Given the description of an element on the screen output the (x, y) to click on. 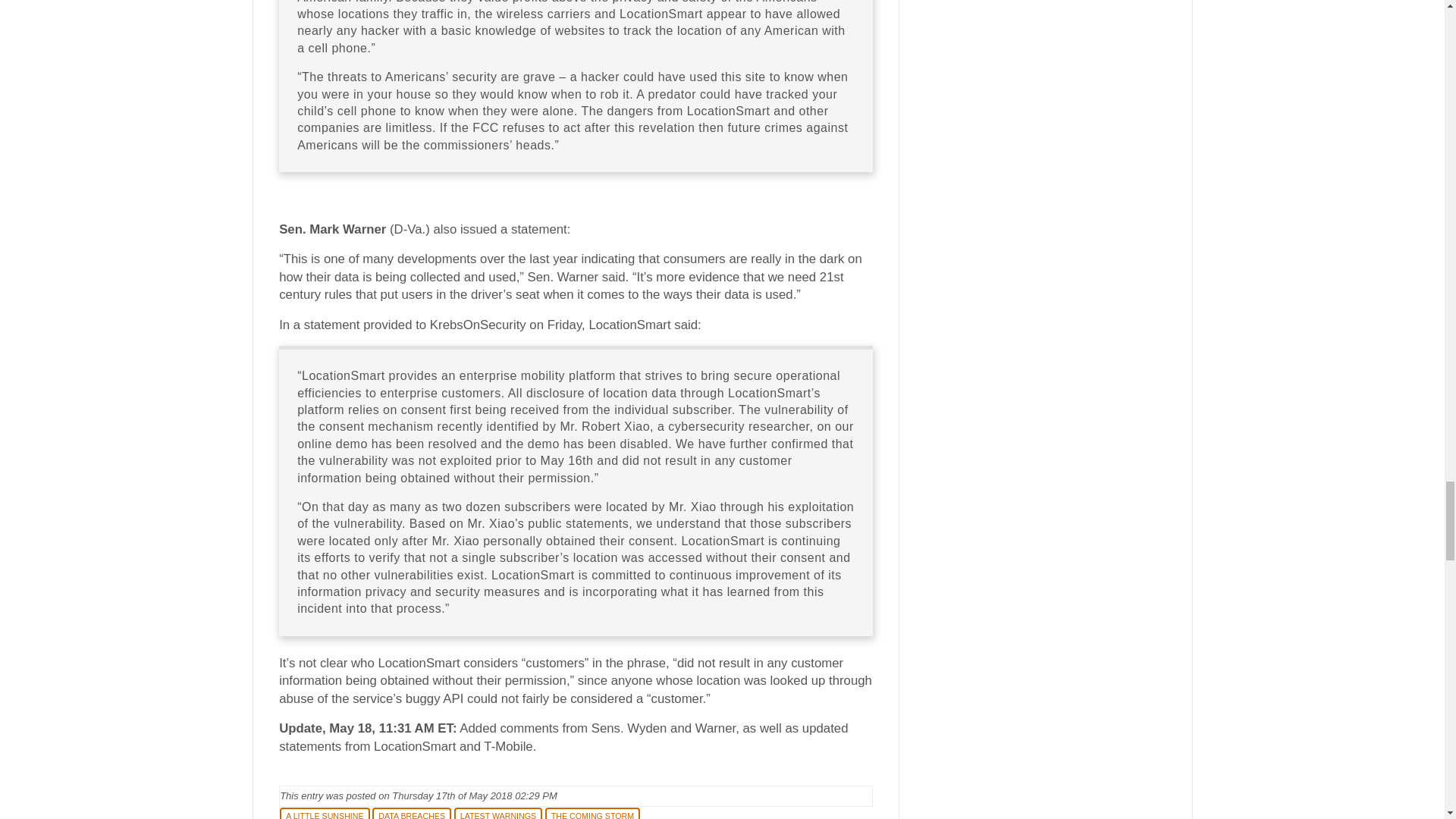
THE COMING STORM (592, 813)
A LITTLE SUNSHINE (324, 813)
DATA BREACHES (411, 813)
LATEST WARNINGS (497, 813)
